Given the description of an element on the screen output the (x, y) to click on. 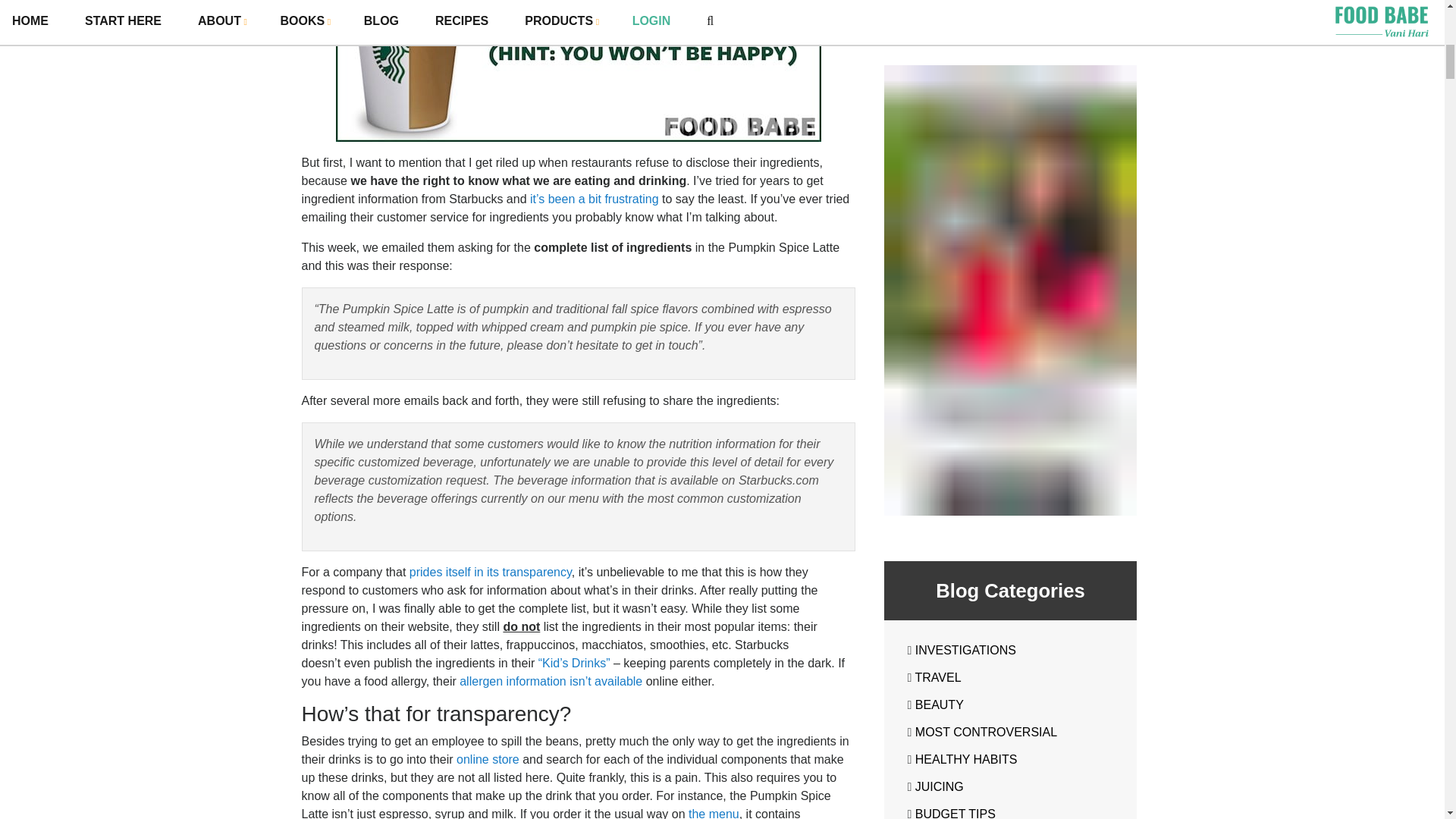
prides itself in its transparency (490, 571)
